Given the description of an element on the screen output the (x, y) to click on. 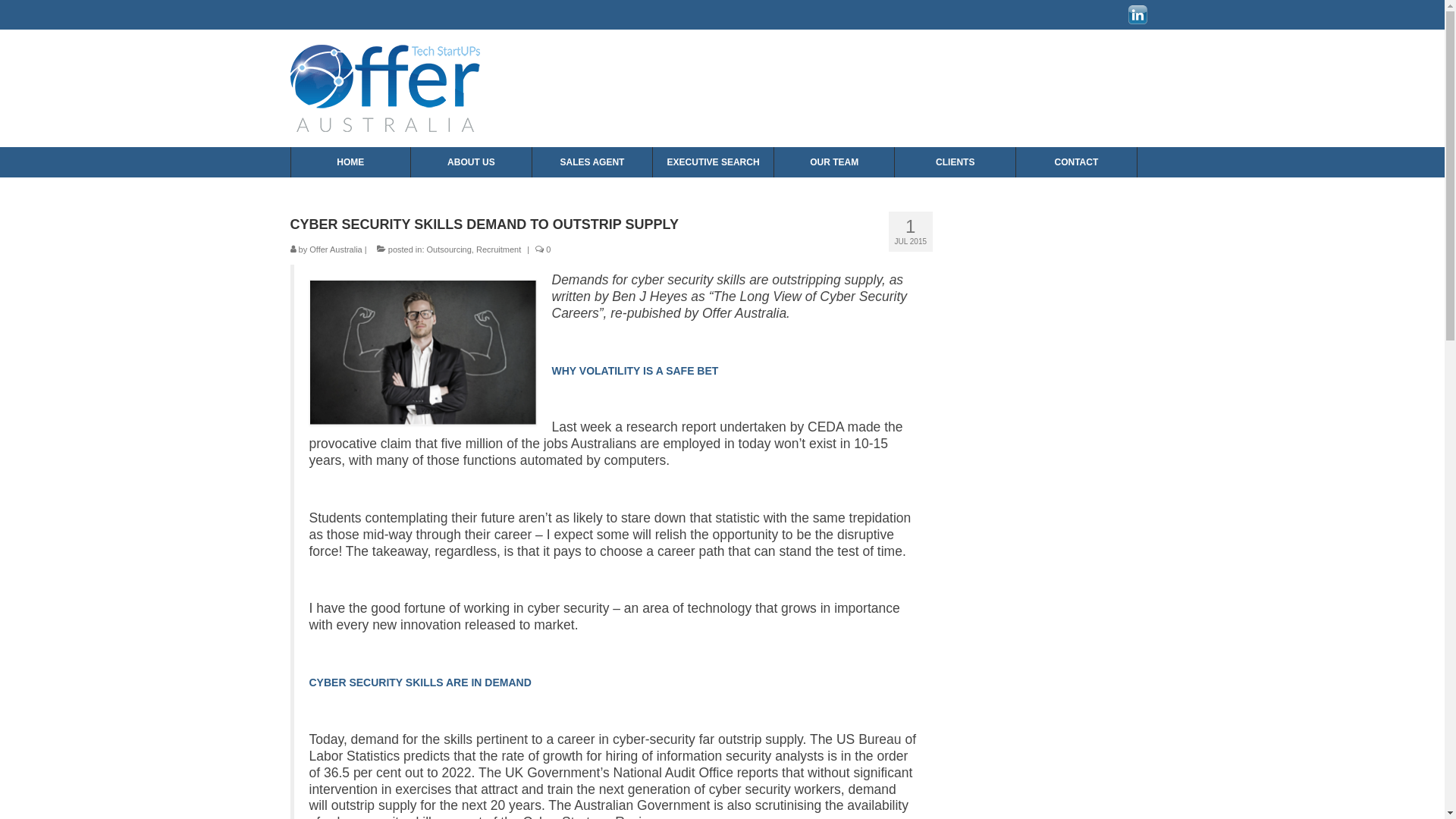
EXECUTIVE SEARCH Element type: text (713, 162)
CONTACT Element type: text (1076, 162)
CLIENTS Element type: text (955, 162)
HOME Element type: text (351, 162)
Recruitment Element type: text (498, 249)
OUR TEAM Element type: text (834, 162)
Outsourcing Element type: text (448, 249)
Offer Australia Element type: text (335, 249)
ABOUT US Element type: text (471, 162)
SALES AGENT Element type: text (592, 162)
